Given the description of an element on the screen output the (x, y) to click on. 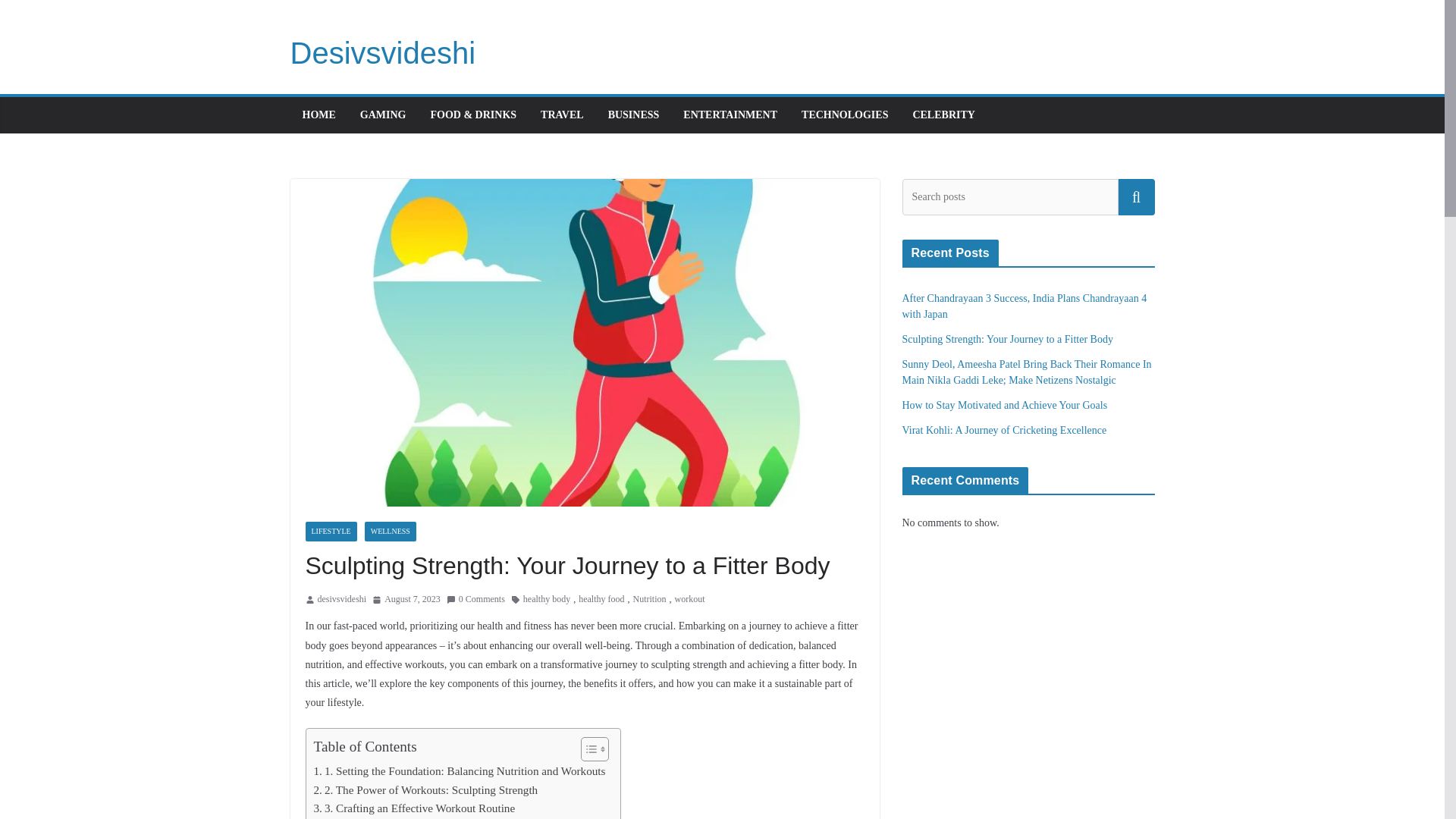
Sculpting Strength: Your Journey to a Fitter Body (1007, 338)
How to Stay Motivated and Achieve Your Goals (1005, 405)
WELLNESS (390, 531)
workout (689, 599)
1:28 pm (406, 599)
0 Comments (475, 599)
desivsvideshi (341, 599)
